Given the description of an element on the screen output the (x, y) to click on. 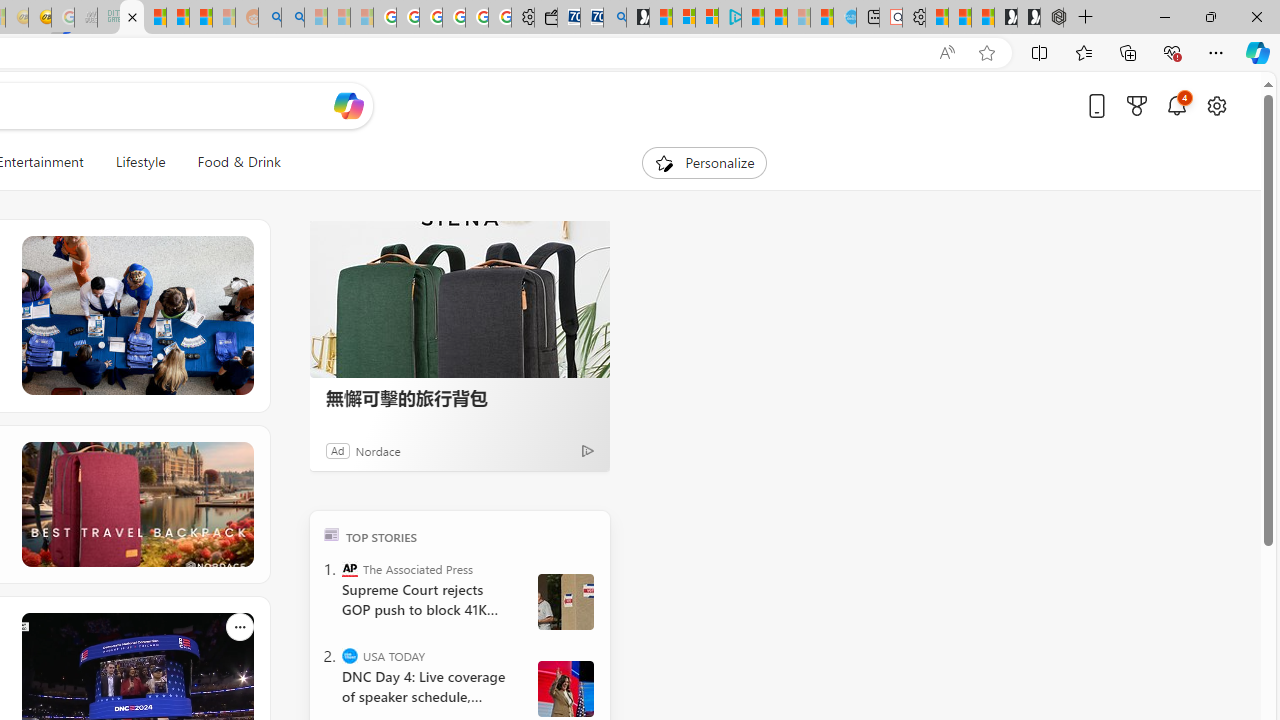
Student Loan Update: Forgiveness Program Ends This Month (200, 17)
The Associated Press (349, 568)
